Given the description of an element on the screen output the (x, y) to click on. 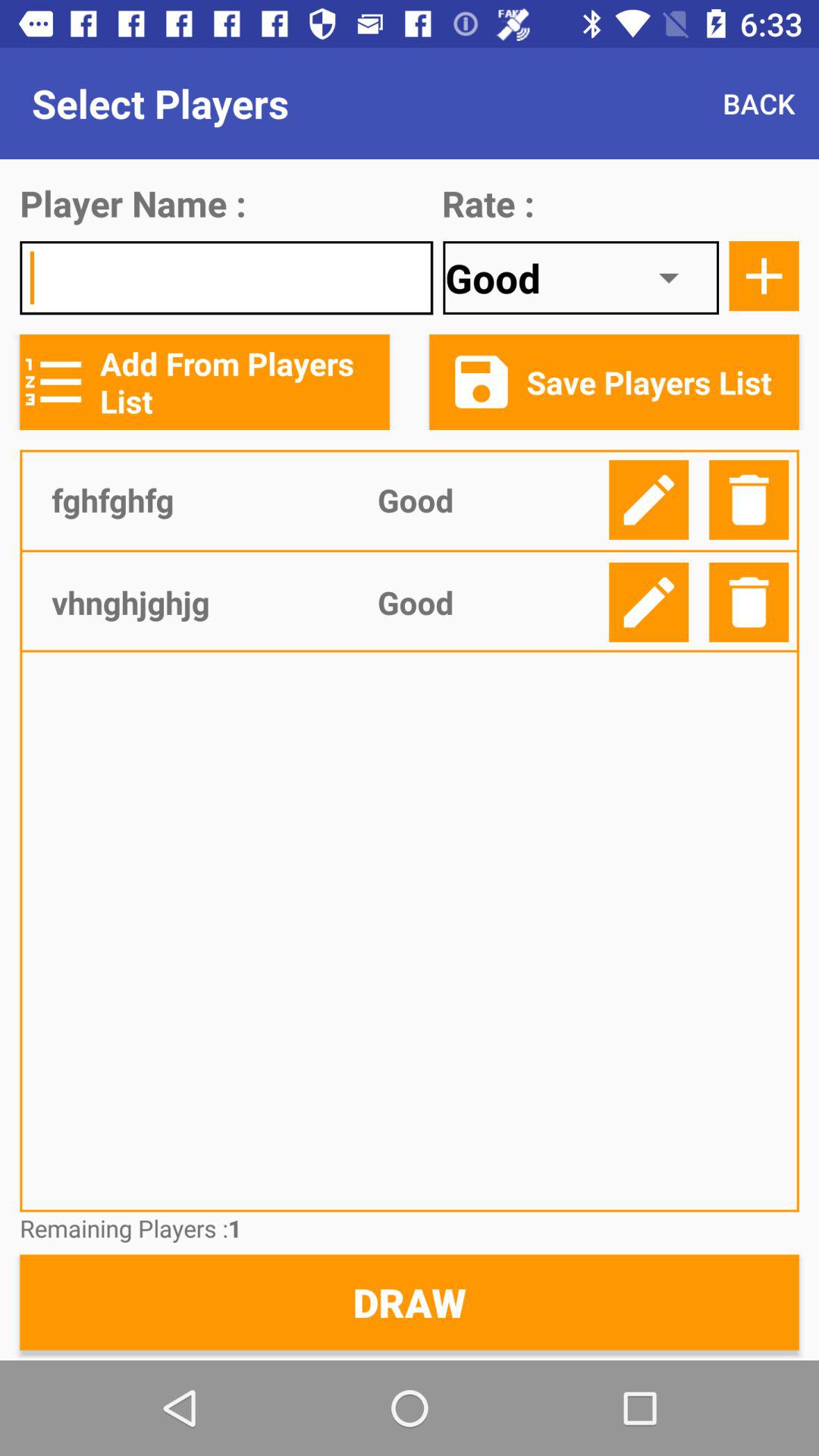
pencil box (648, 499)
